Given the description of an element on the screen output the (x, y) to click on. 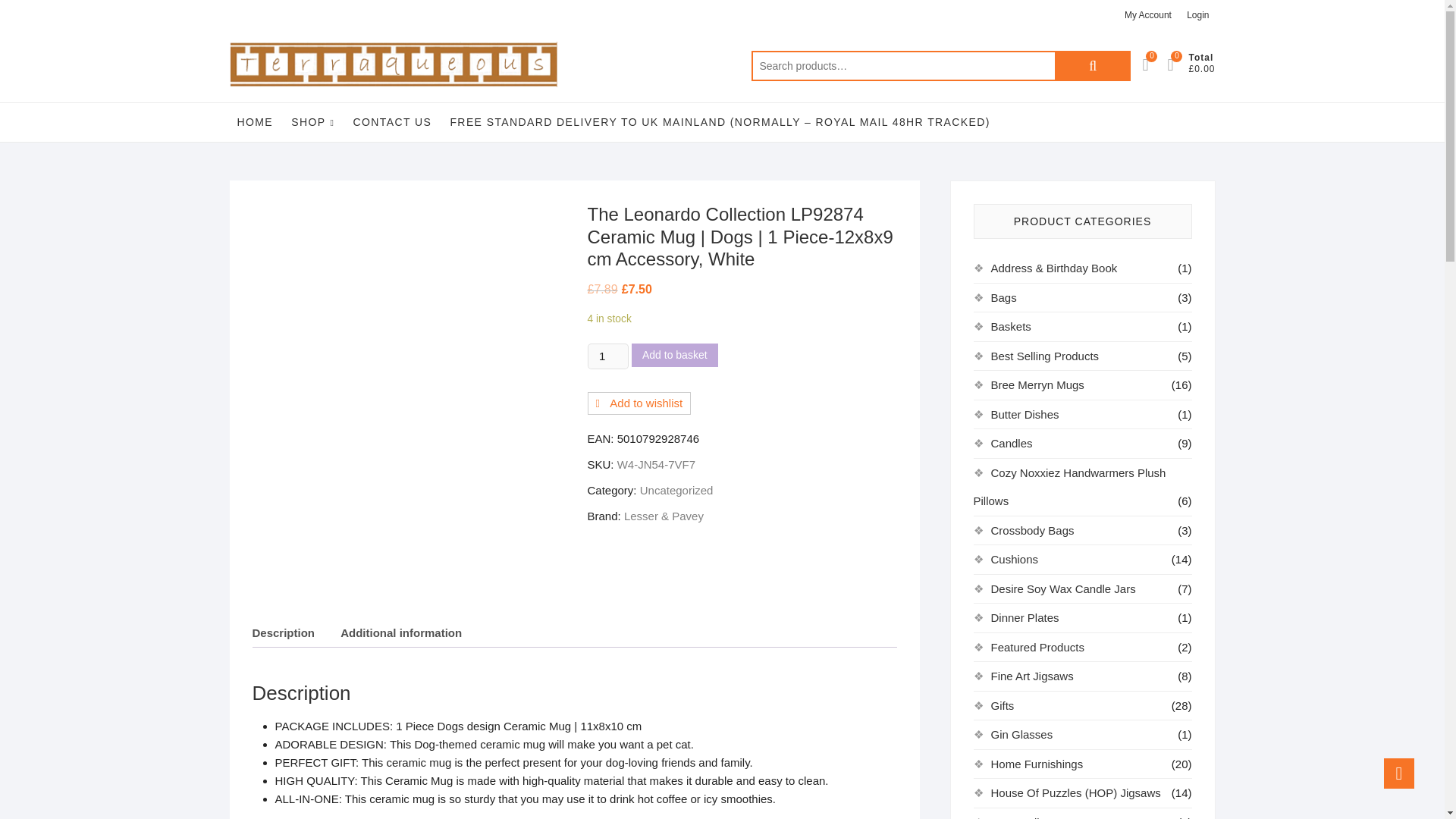
Login (1197, 15)
HOME (254, 121)
1 (606, 356)
My Account (1147, 15)
Search (1092, 65)
SHOP (312, 122)
